Given the description of an element on the screen output the (x, y) to click on. 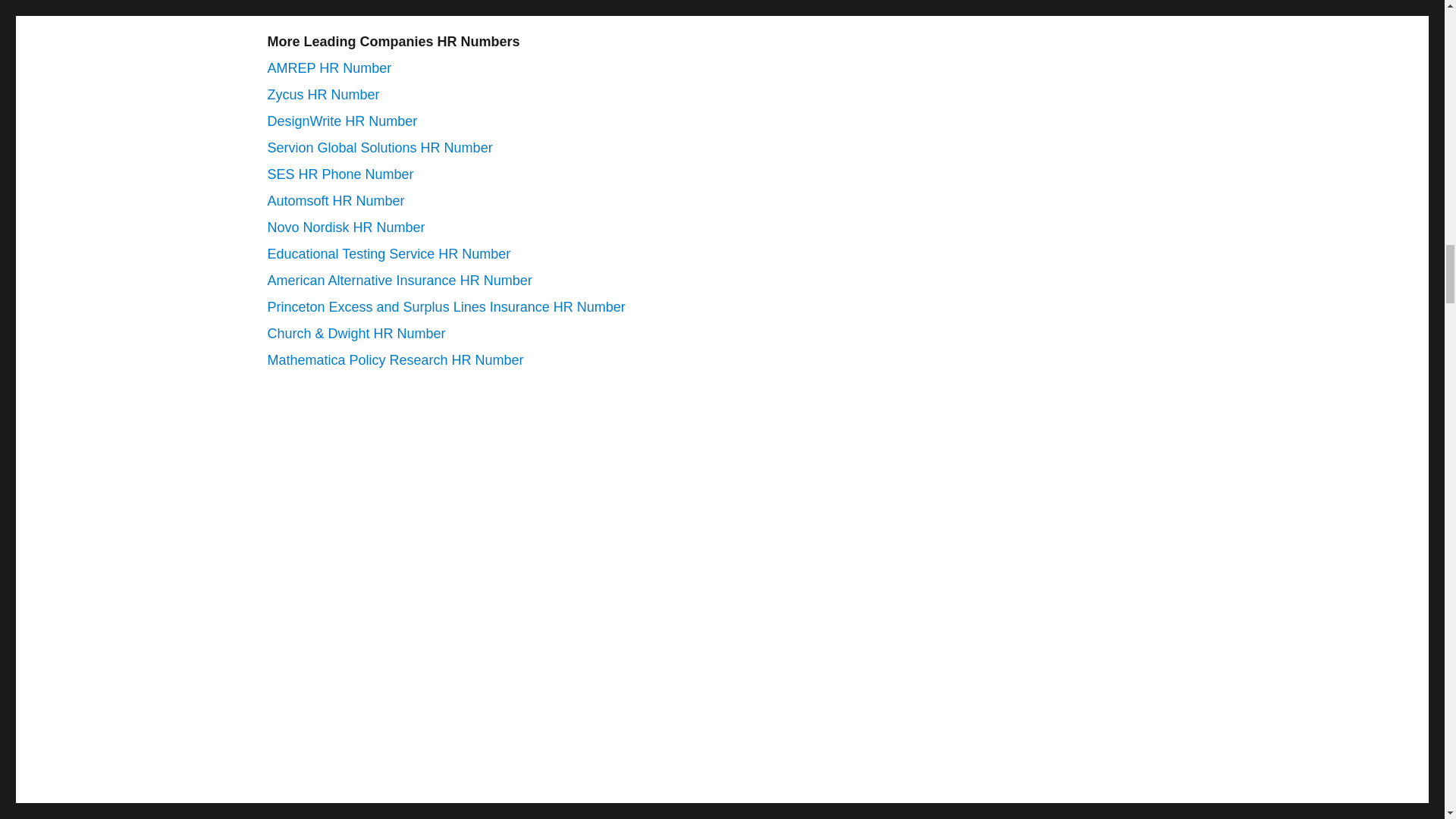
Princeton Excess and Surplus Lines Insurance HR Number (445, 306)
Educational Testing Service HR Number (388, 253)
Novo Nordisk HR Number (345, 227)
Servion Global Solutions HR Number (379, 147)
Mathematica Policy Research HR Number (394, 359)
AMREP HR Number (328, 68)
DesignWrite HR Number (341, 120)
Automsoft HR Number (335, 200)
American Alternative Insurance HR Number (398, 280)
Zycus HR Number (322, 94)
SES HR Phone Number (339, 174)
